Given the description of an element on the screen output the (x, y) to click on. 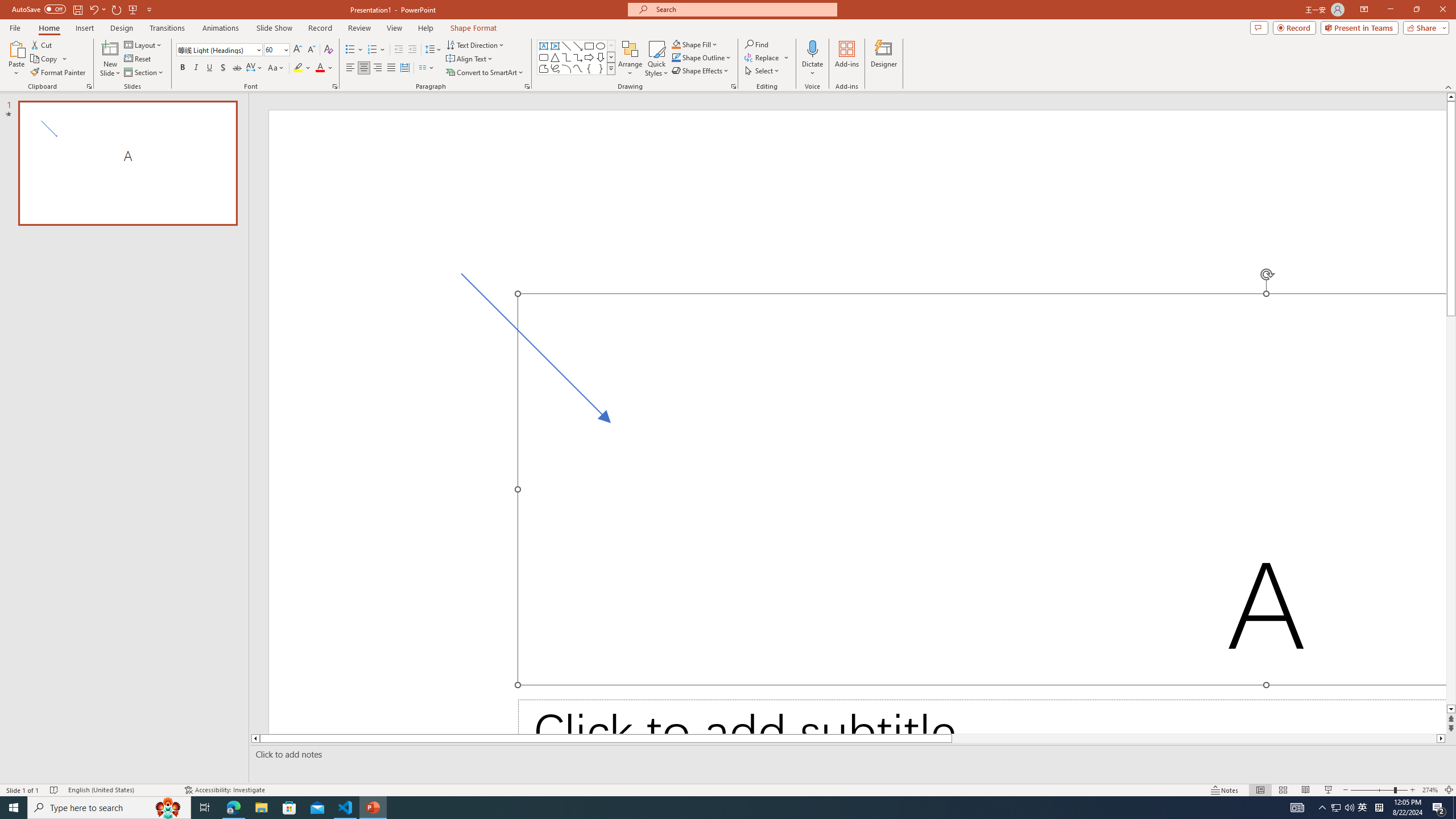
Straight Arrow Connector 4 (542, 354)
Shape Fill Orange, Accent 2 (675, 44)
